Given the description of an element on the screen output the (x, y) to click on. 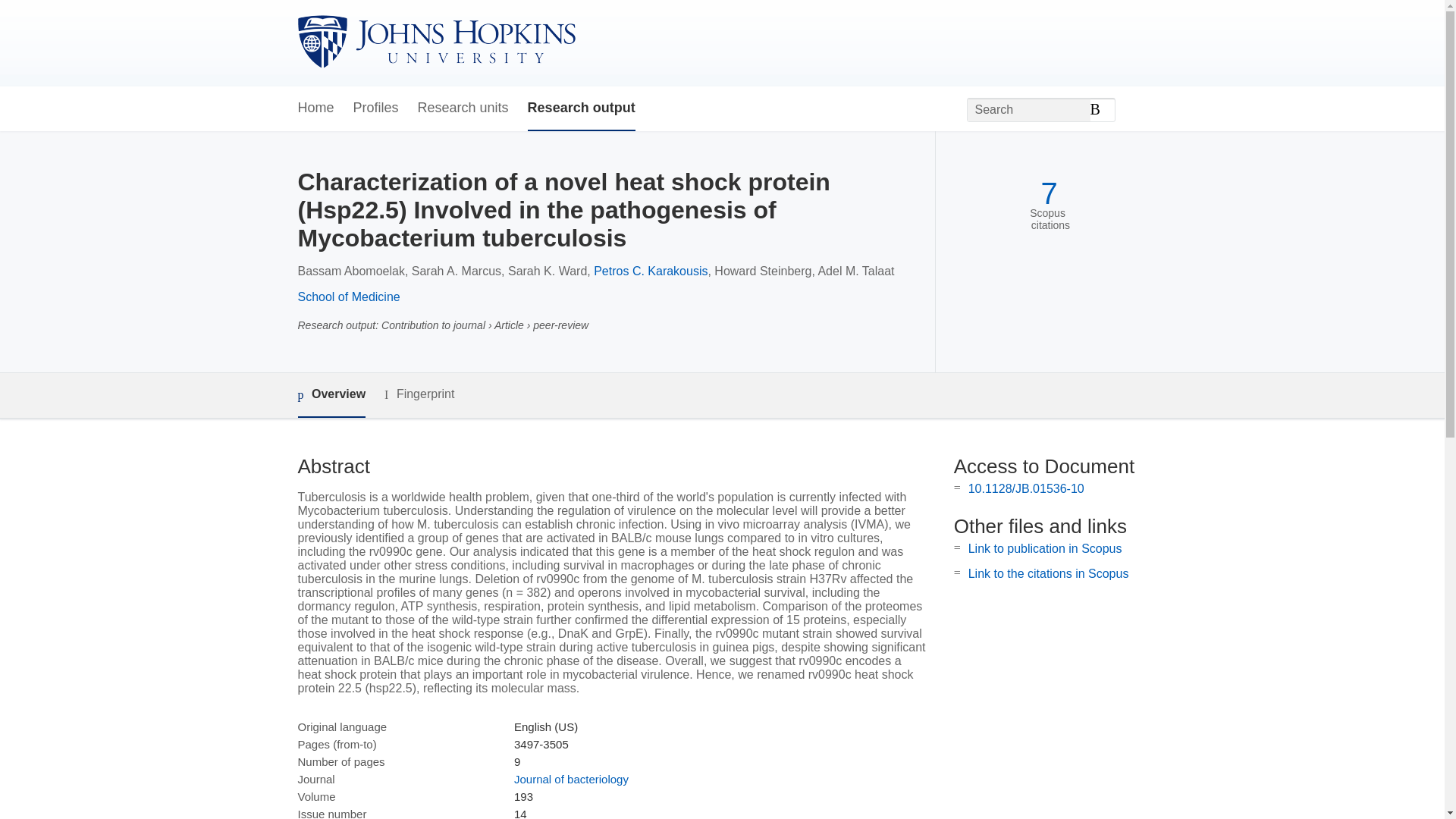
Overview (331, 395)
Research output (580, 108)
Link to the citations in Scopus (1048, 573)
Research units (462, 108)
School of Medicine (347, 296)
Link to publication in Scopus (1045, 548)
Petros C. Karakousis (650, 270)
Journal of bacteriology (570, 779)
Profiles (375, 108)
Johns Hopkins University Home (436, 43)
Fingerprint (419, 394)
